Given the description of an element on the screen output the (x, y) to click on. 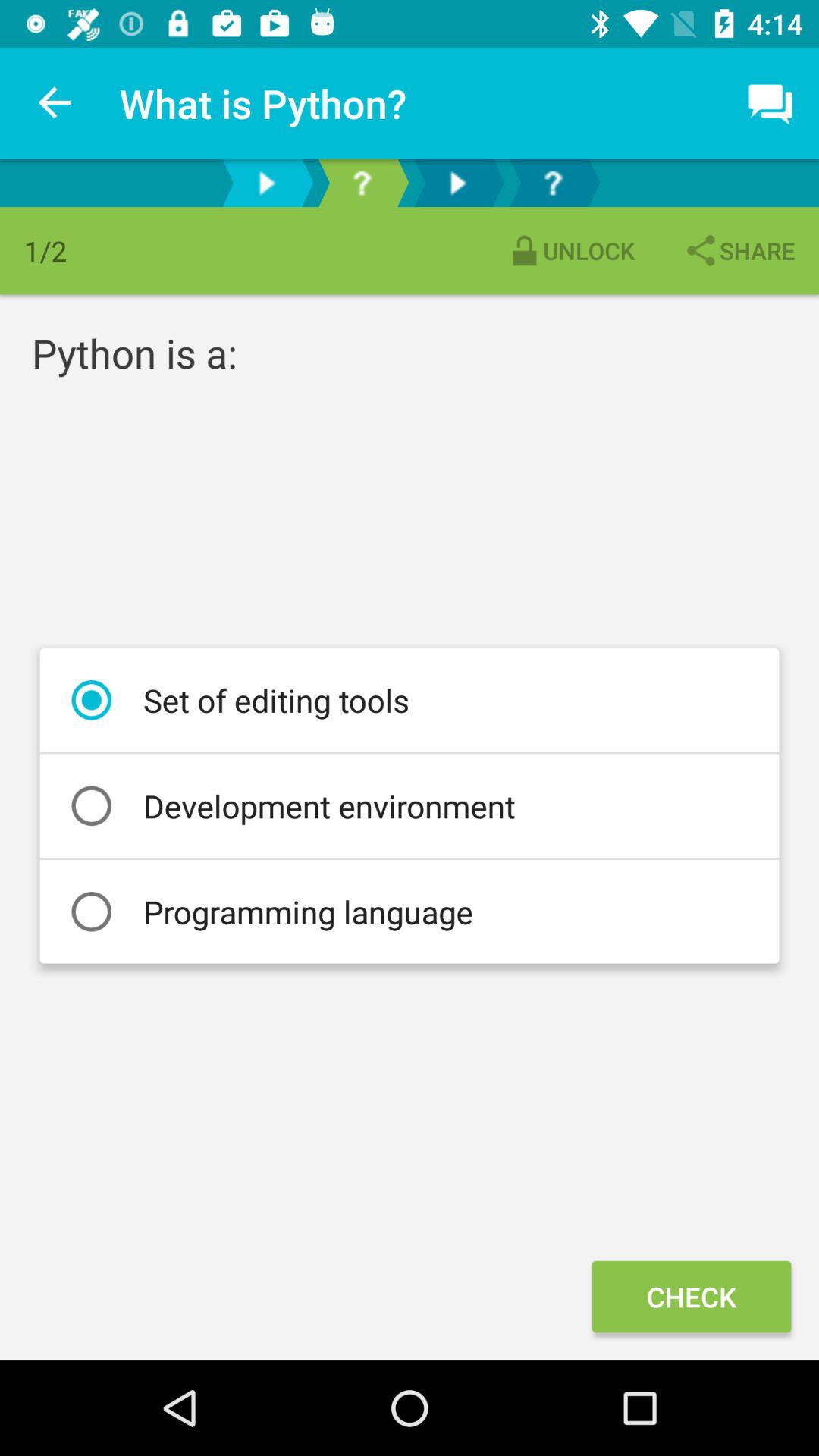
r (552, 183)
